Given the description of an element on the screen output the (x, y) to click on. 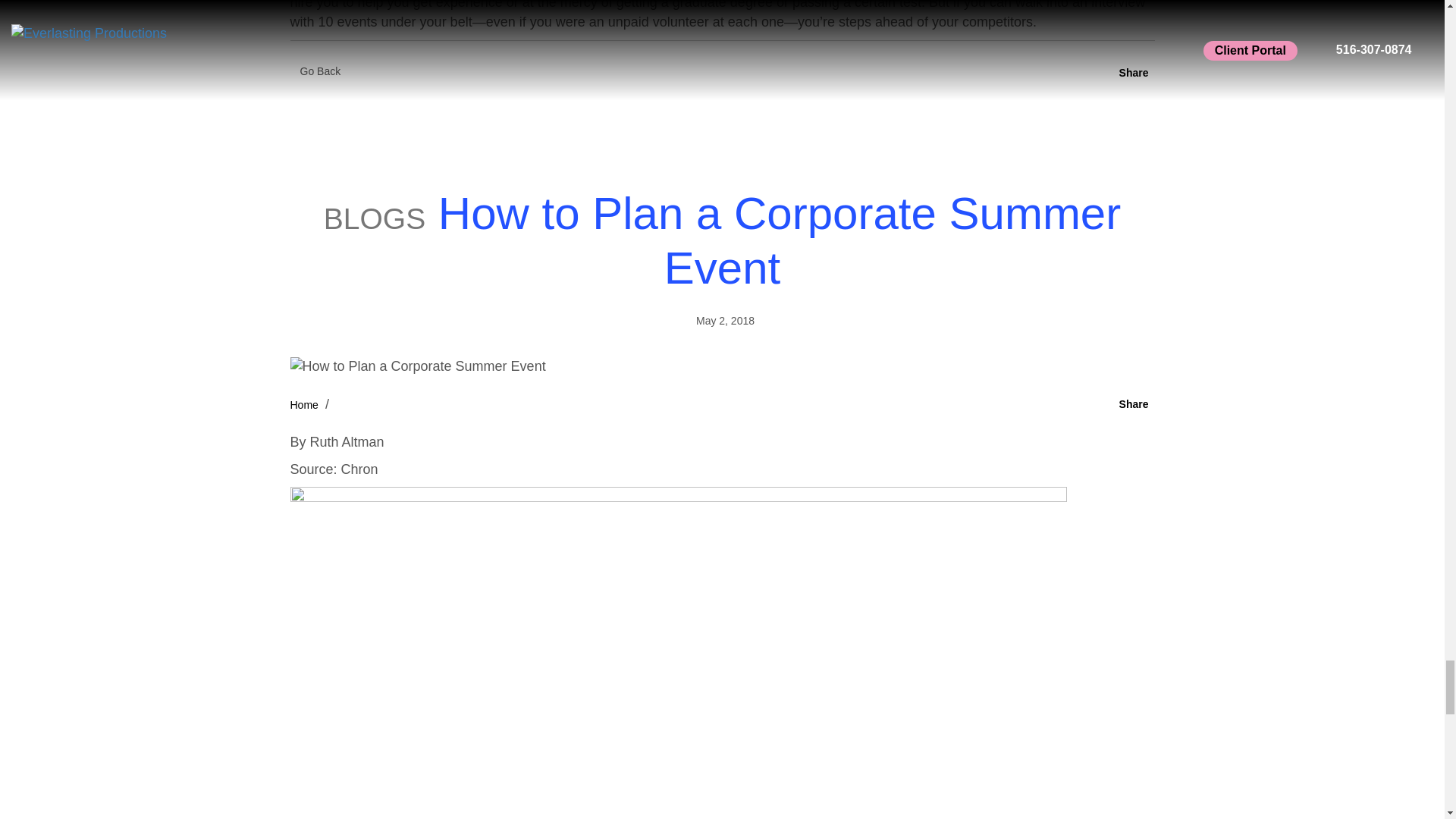
Go Back (319, 71)
